Given the description of an element on the screen output the (x, y) to click on. 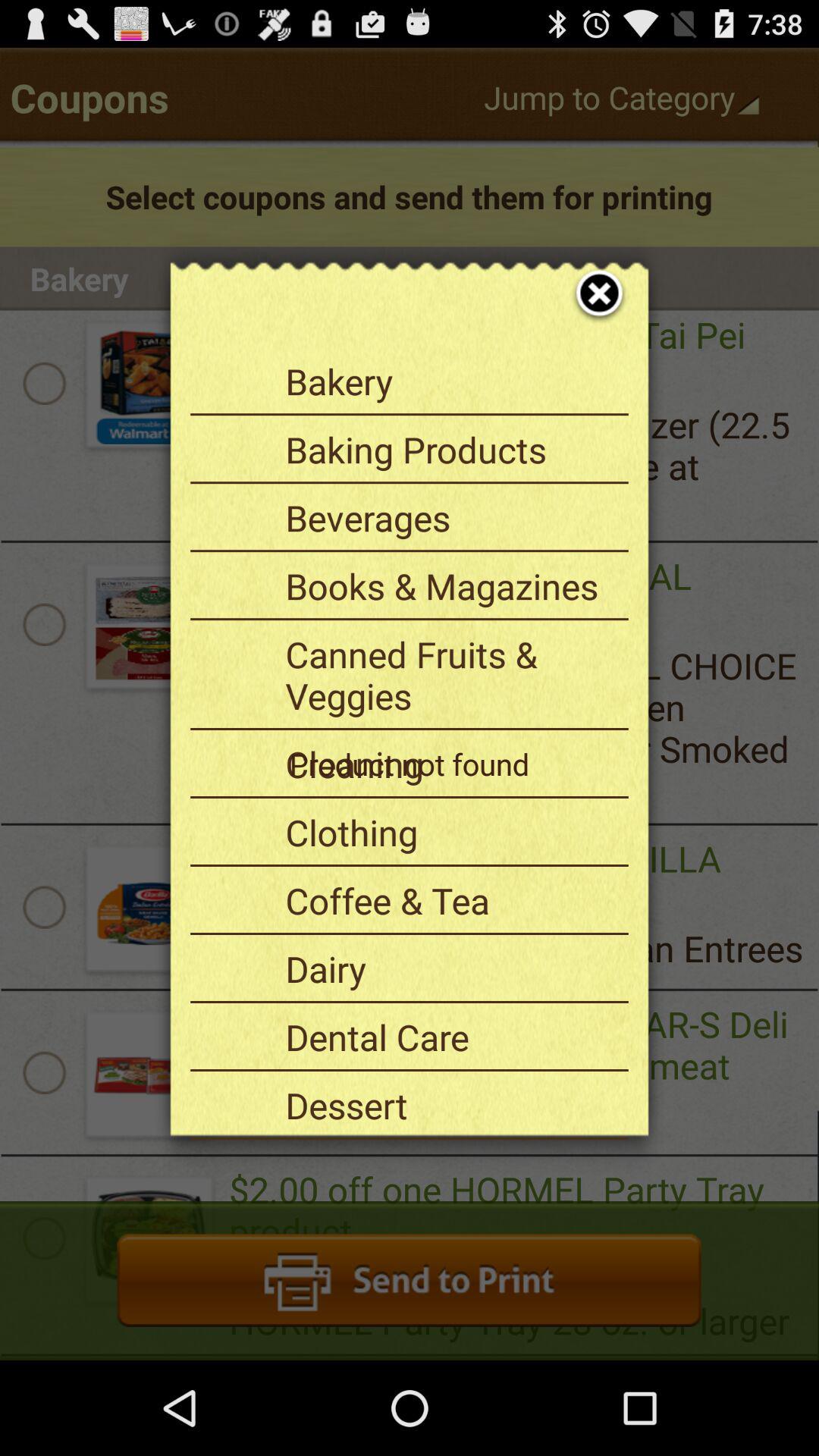
choose the app below baking products item (451, 517)
